Given the description of an element on the screen output the (x, y) to click on. 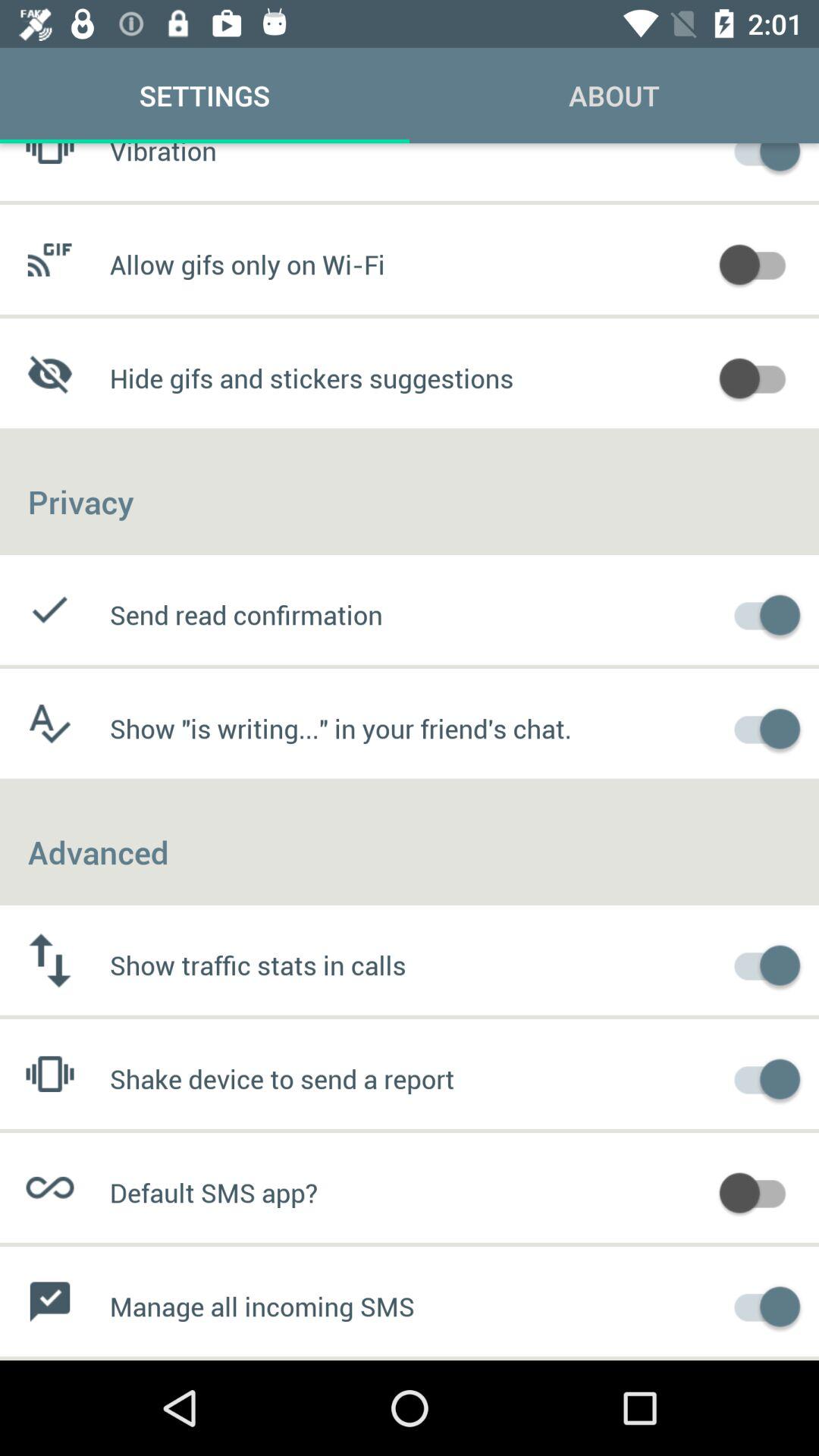
hide gifs and stickers suggestions (759, 376)
